Given the description of an element on the screen output the (x, y) to click on. 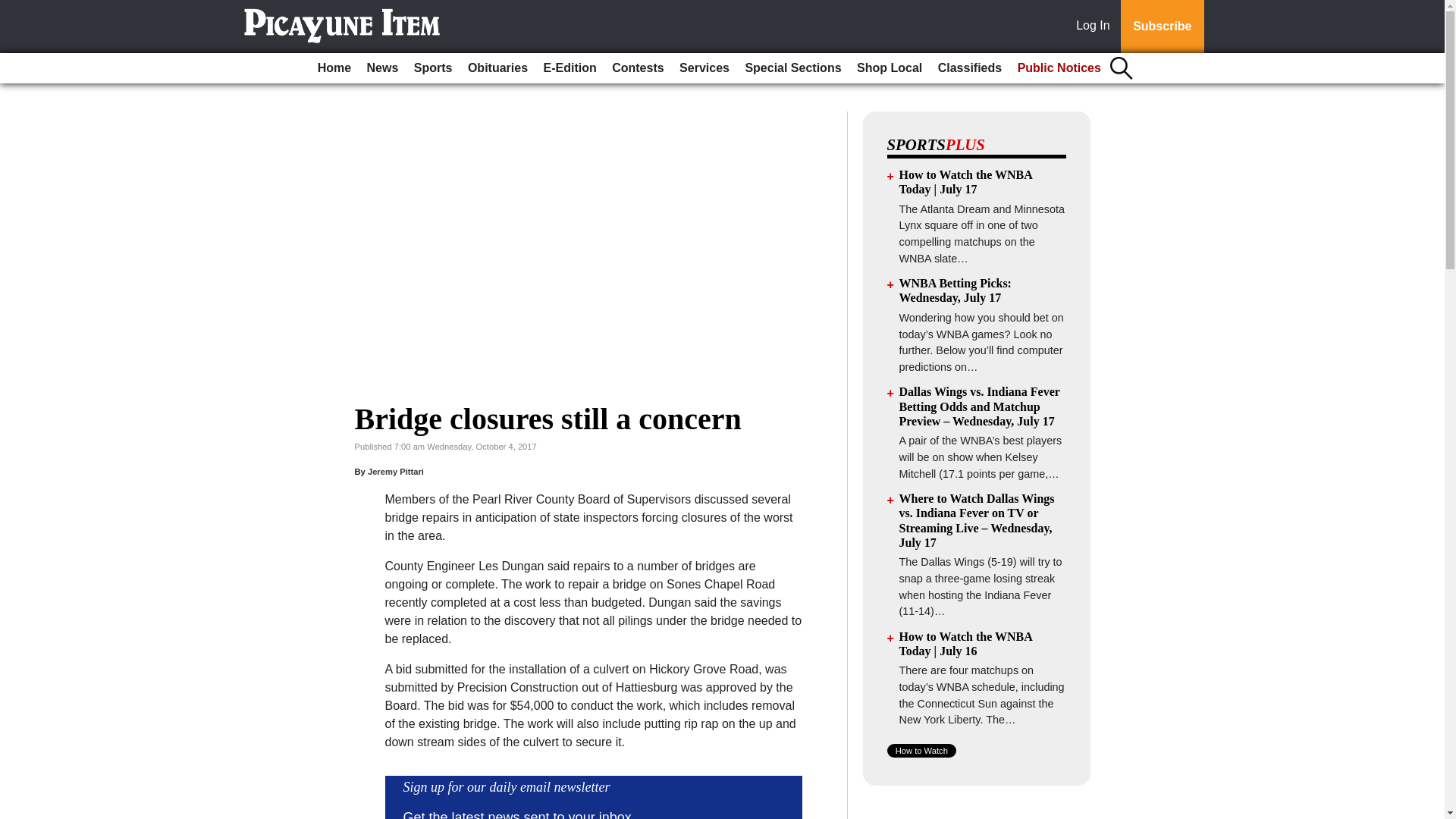
Sports (432, 68)
Contests (637, 68)
Obituaries (497, 68)
News (382, 68)
Jeremy Pittari (395, 470)
Home (333, 68)
Subscribe (1162, 26)
E-Edition (569, 68)
Services (703, 68)
Classifieds (969, 68)
Special Sections (792, 68)
Shop Local (889, 68)
Go (13, 9)
Public Notices (1058, 68)
WNBA Betting Picks: Wednesday, July 17 (955, 289)
